Given the description of an element on the screen output the (x, y) to click on. 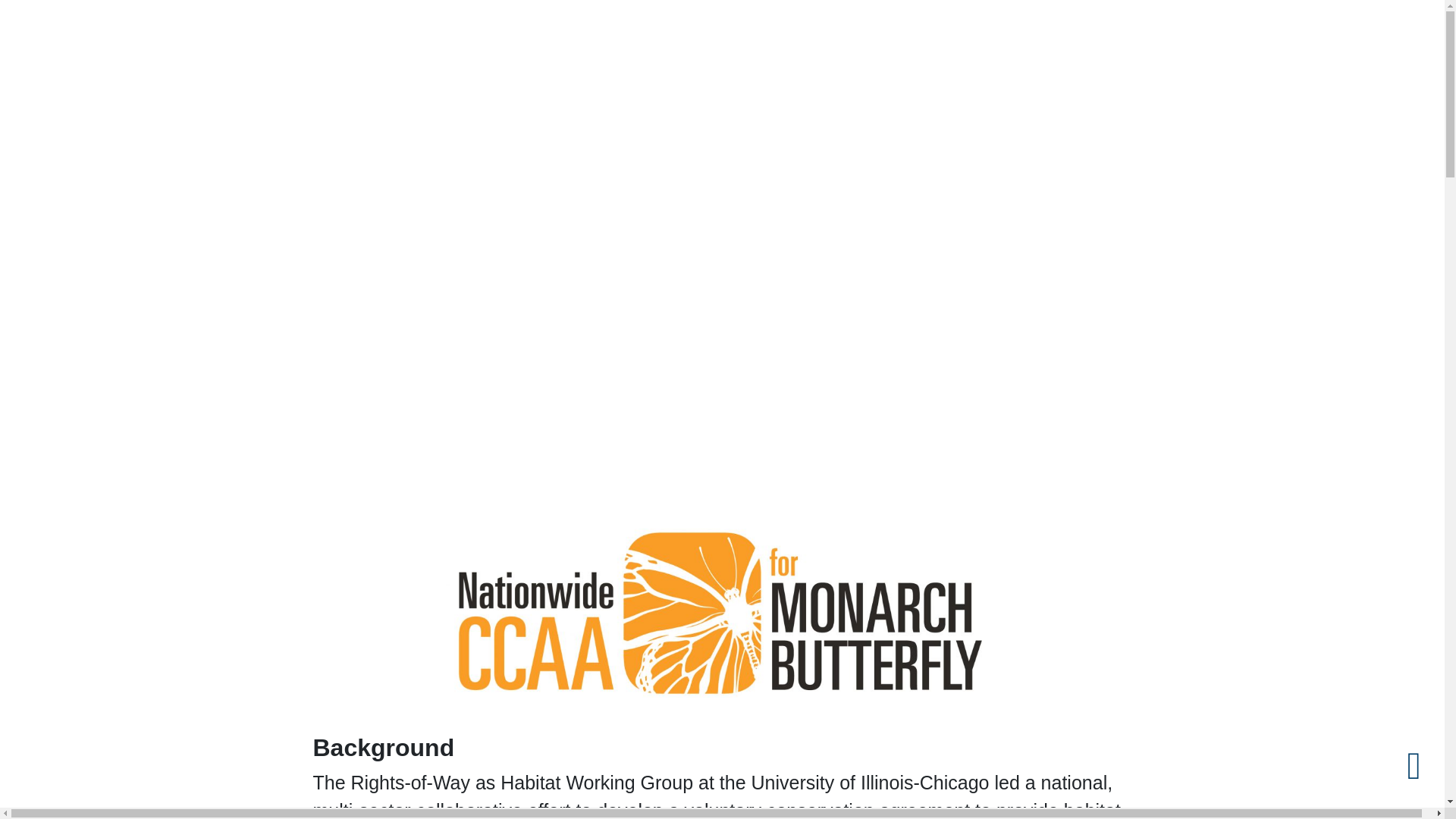
Login (1271, 33)
CONSERVATION BENEFIT AGREEMENTS (1157, 92)
Contact (1386, 33)
HOME (632, 92)
ABOUT (685, 92)
Register (1326, 33)
PROJECTS (1003, 92)
